Given the description of an element on the screen output the (x, y) to click on. 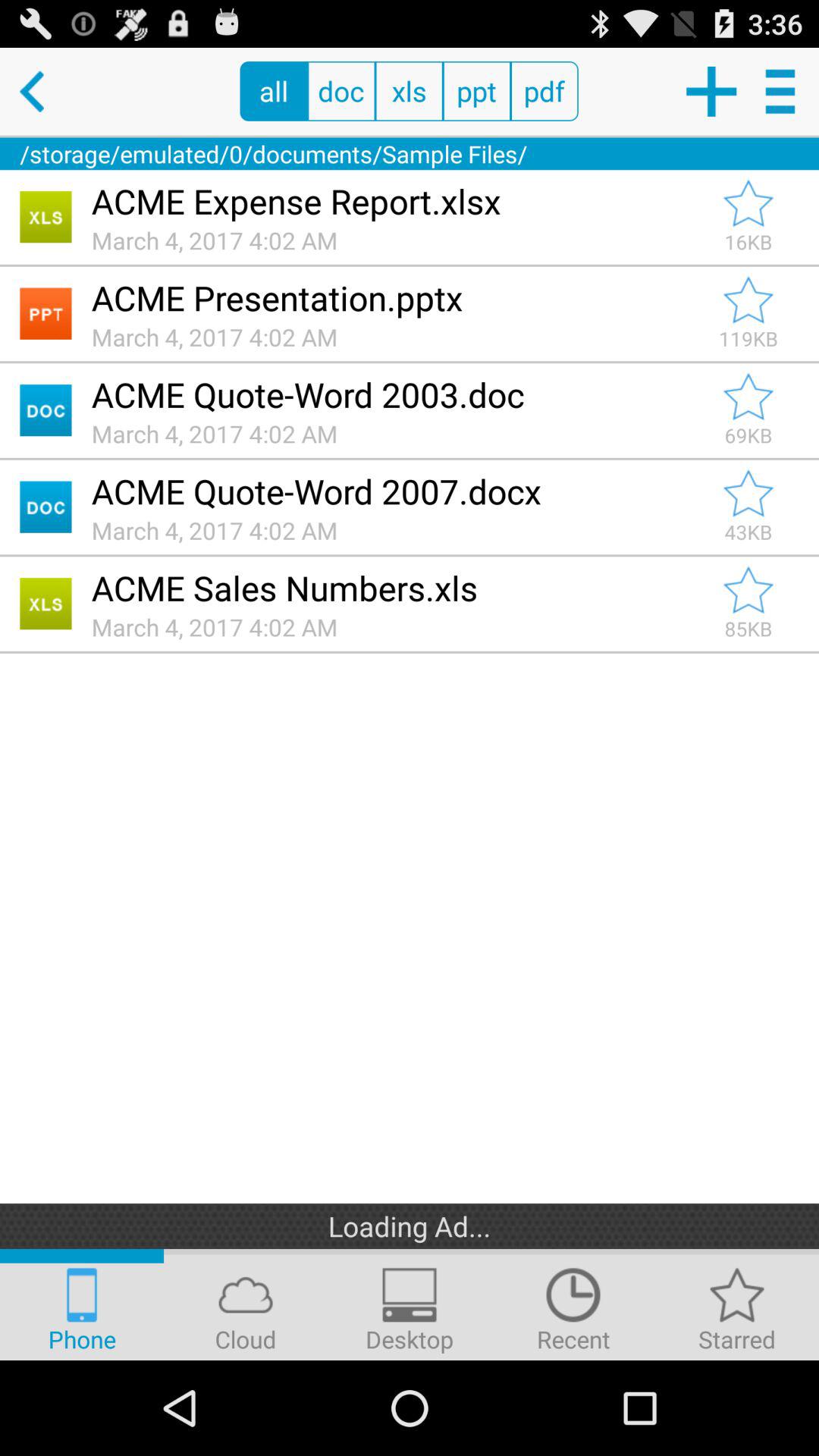
save to favorites (748, 300)
